Given the description of an element on the screen output the (x, y) to click on. 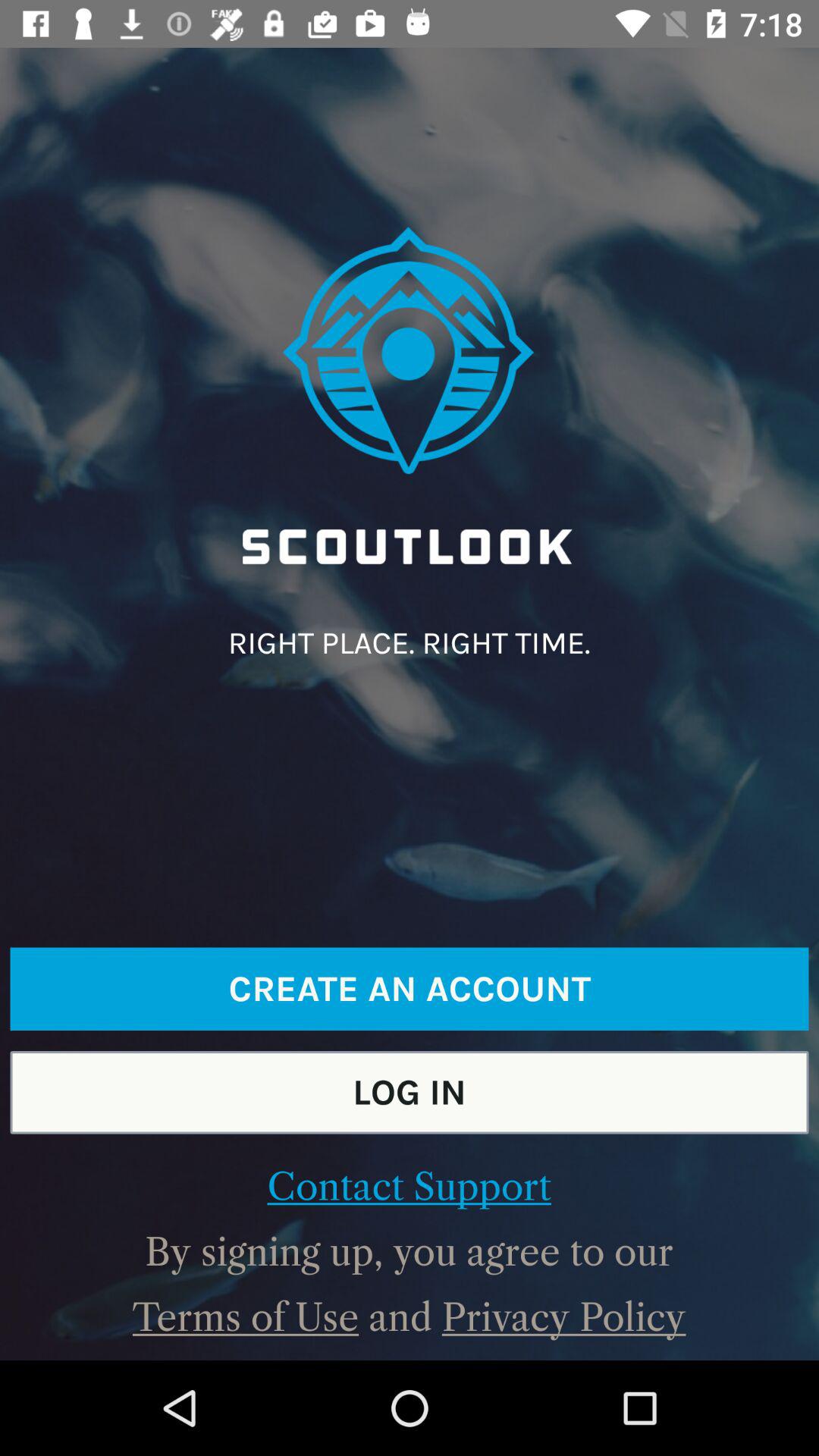
select terms of use at the bottom left corner (245, 1317)
